Given the description of an element on the screen output the (x, y) to click on. 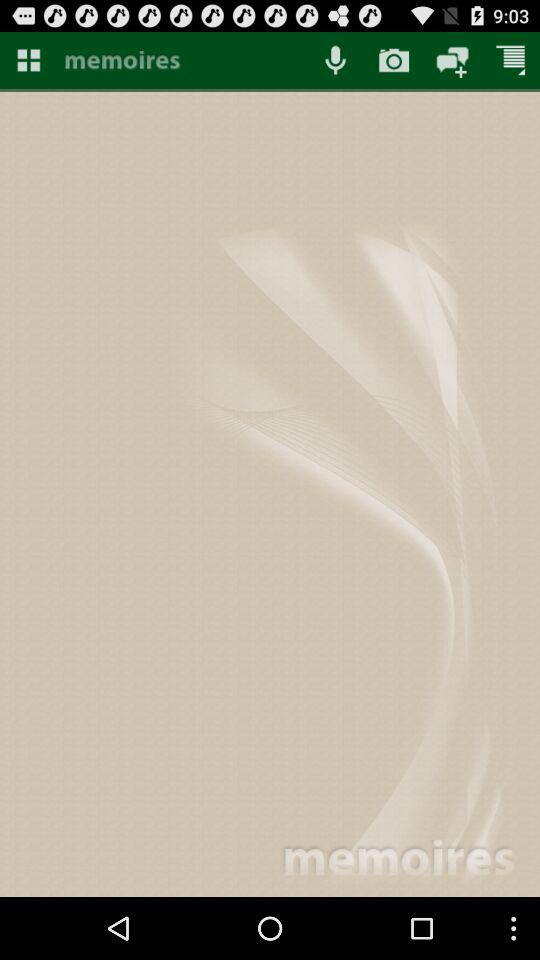
toggle camera (394, 60)
